Given the description of an element on the screen output the (x, y) to click on. 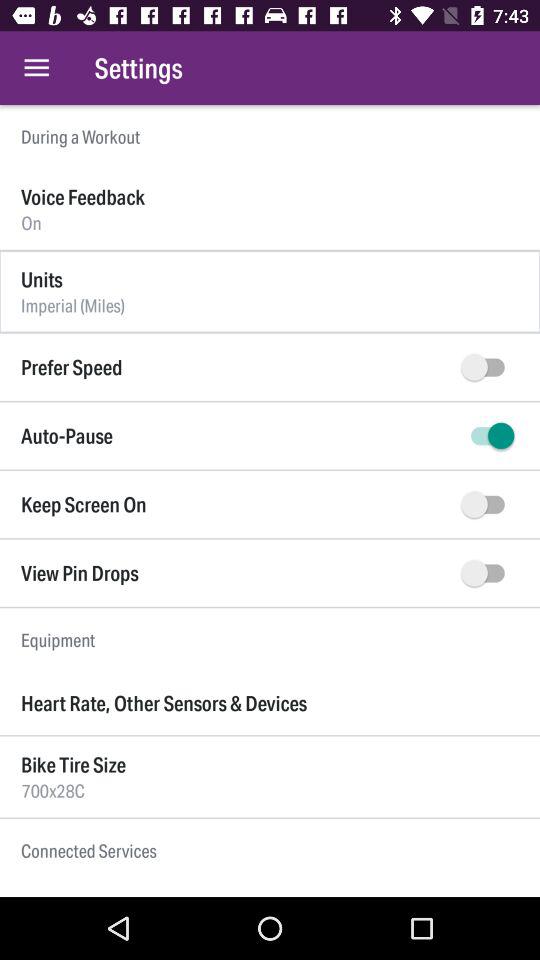
toggle keep screen on option (487, 504)
